Given the description of an element on the screen output the (x, y) to click on. 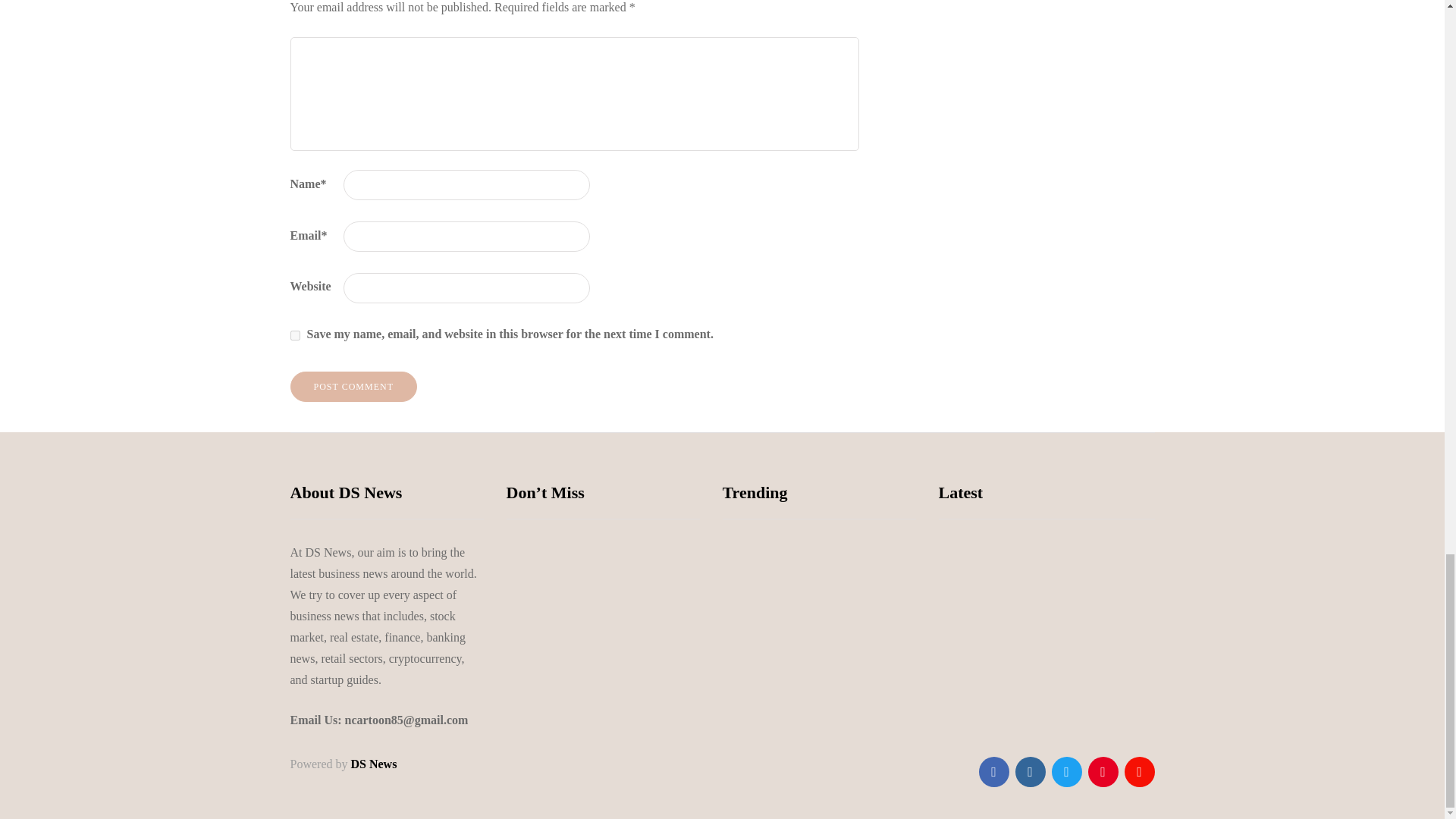
yes (294, 335)
Post comment (352, 386)
